Given the description of an element on the screen output the (x, y) to click on. 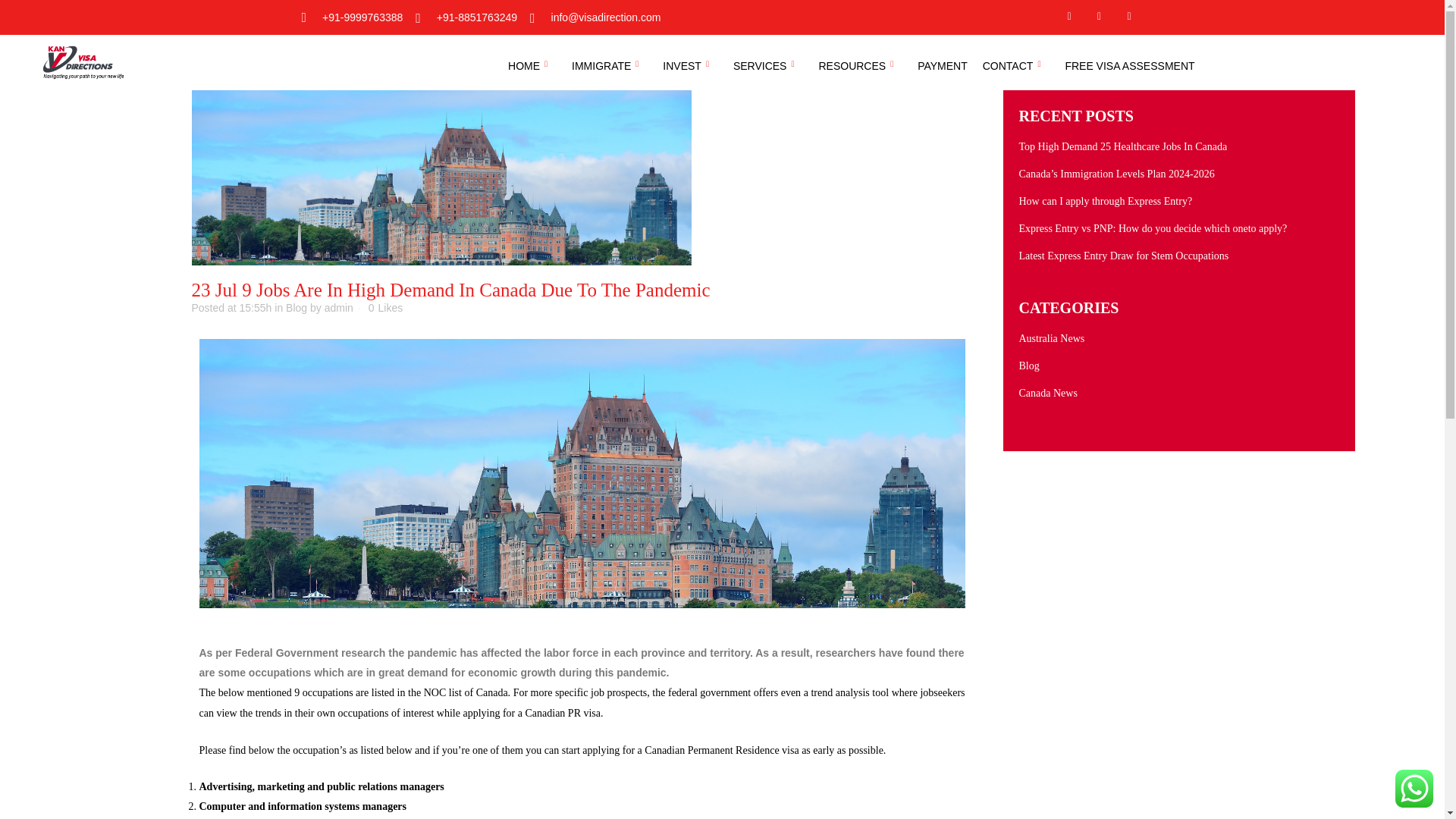
Like this (385, 307)
HOME (532, 65)
IMMIGRATE (609, 65)
